Given the description of an element on the screen output the (x, y) to click on. 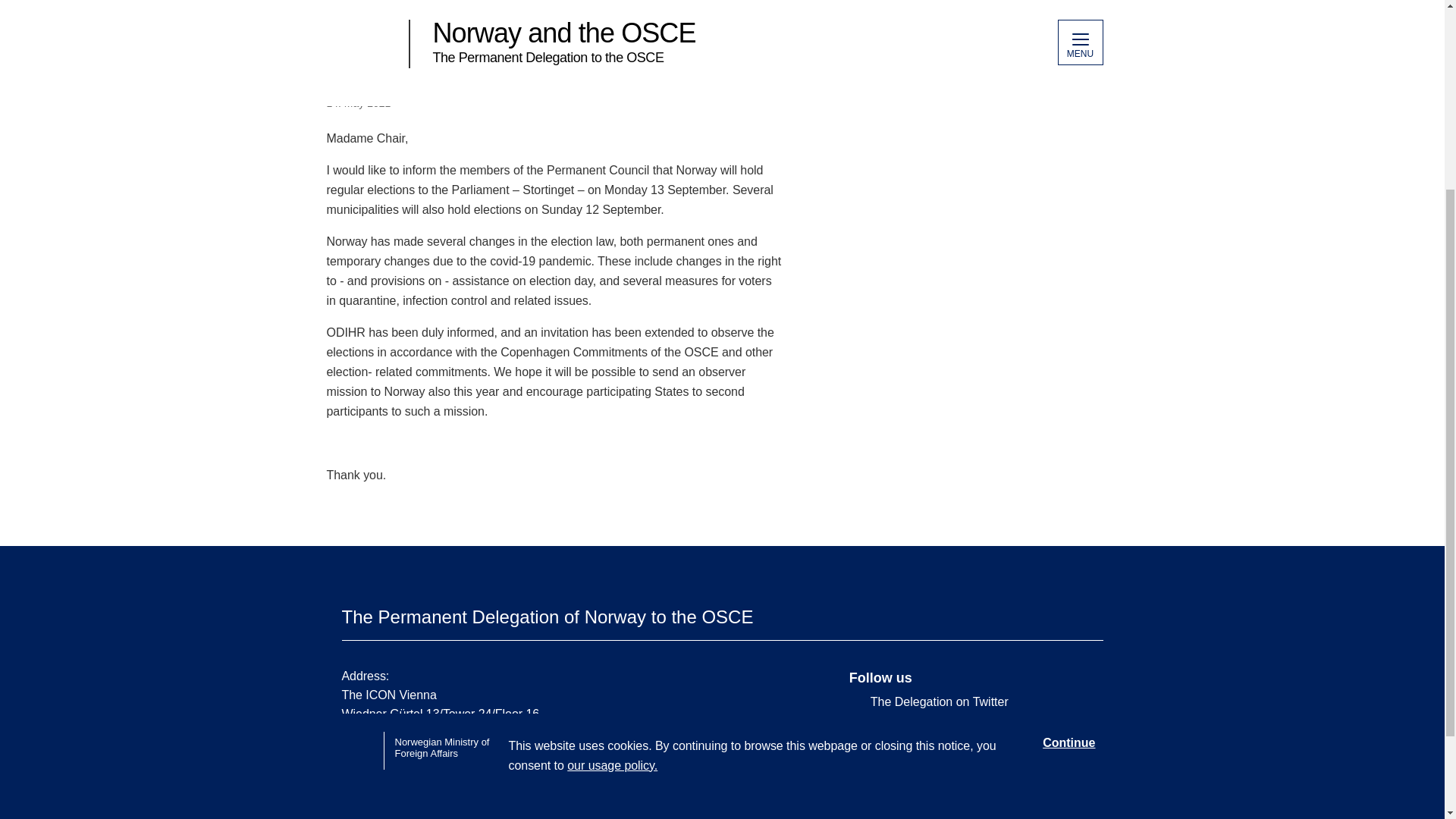
Continue (1068, 476)
The Delegation on Twitter (964, 702)
our usage policy. (612, 498)
The Ambassador on Twitter (964, 721)
The Delegation on Instagram (964, 741)
